Given the description of an element on the screen output the (x, y) to click on. 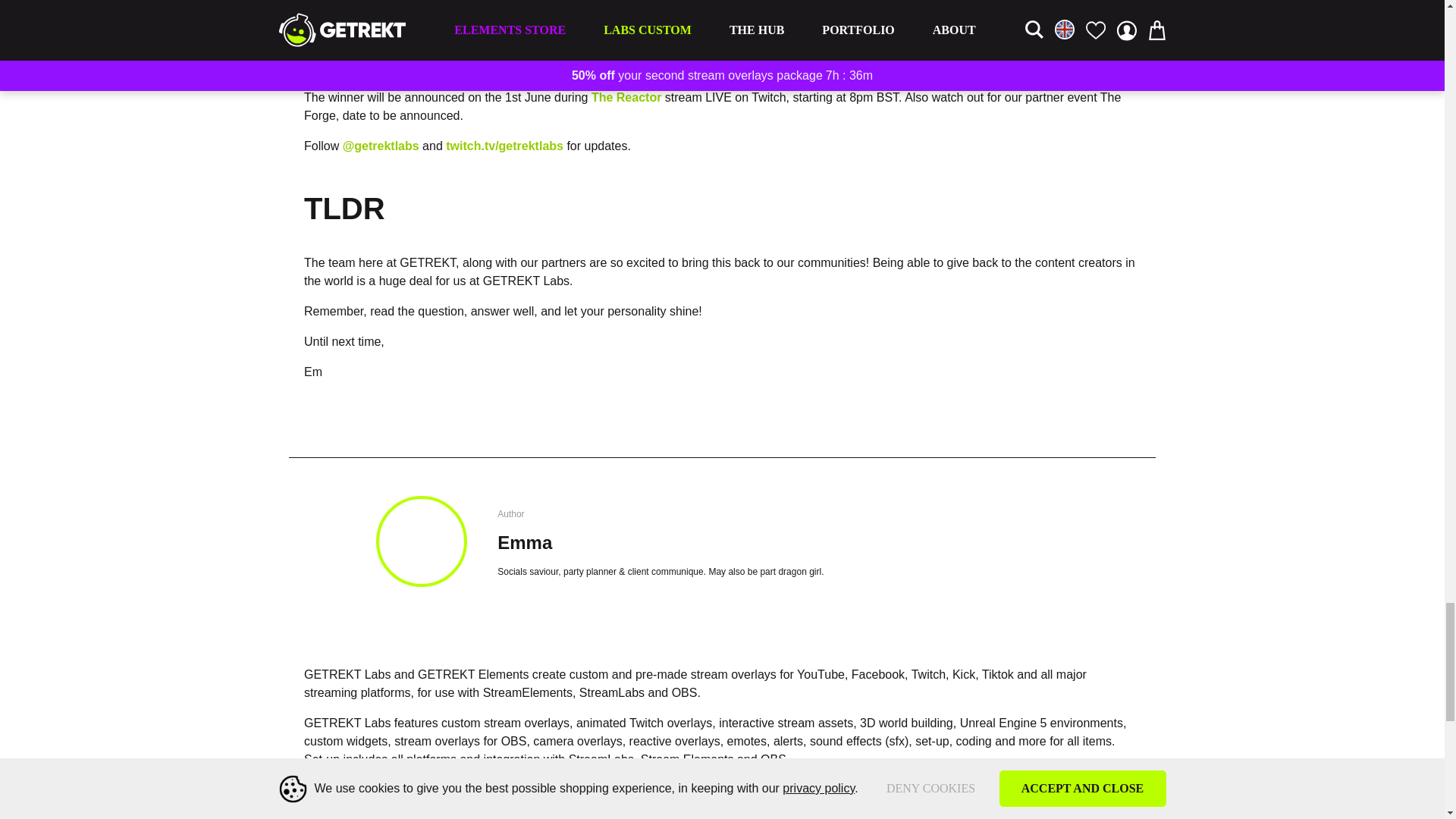
The Reactor (626, 97)
APPLY HERE (342, 66)
